Given the description of an element on the screen output the (x, y) to click on. 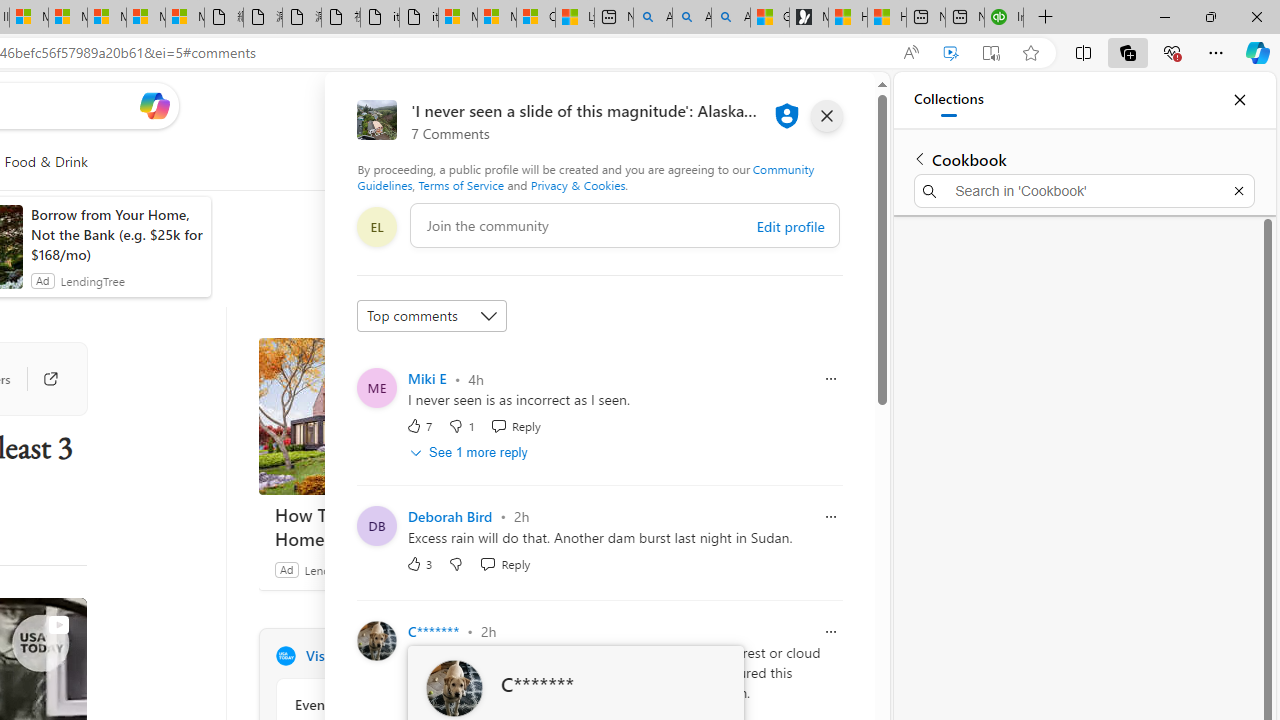
Community Guidelines (586, 176)
Terms of Service (461, 184)
LendingTree (336, 569)
Sort comments by (431, 315)
Reply Reply Comment (505, 563)
7 Like (419, 425)
Miki E (427, 378)
close (827, 115)
